Given the description of an element on the screen output the (x, y) to click on. 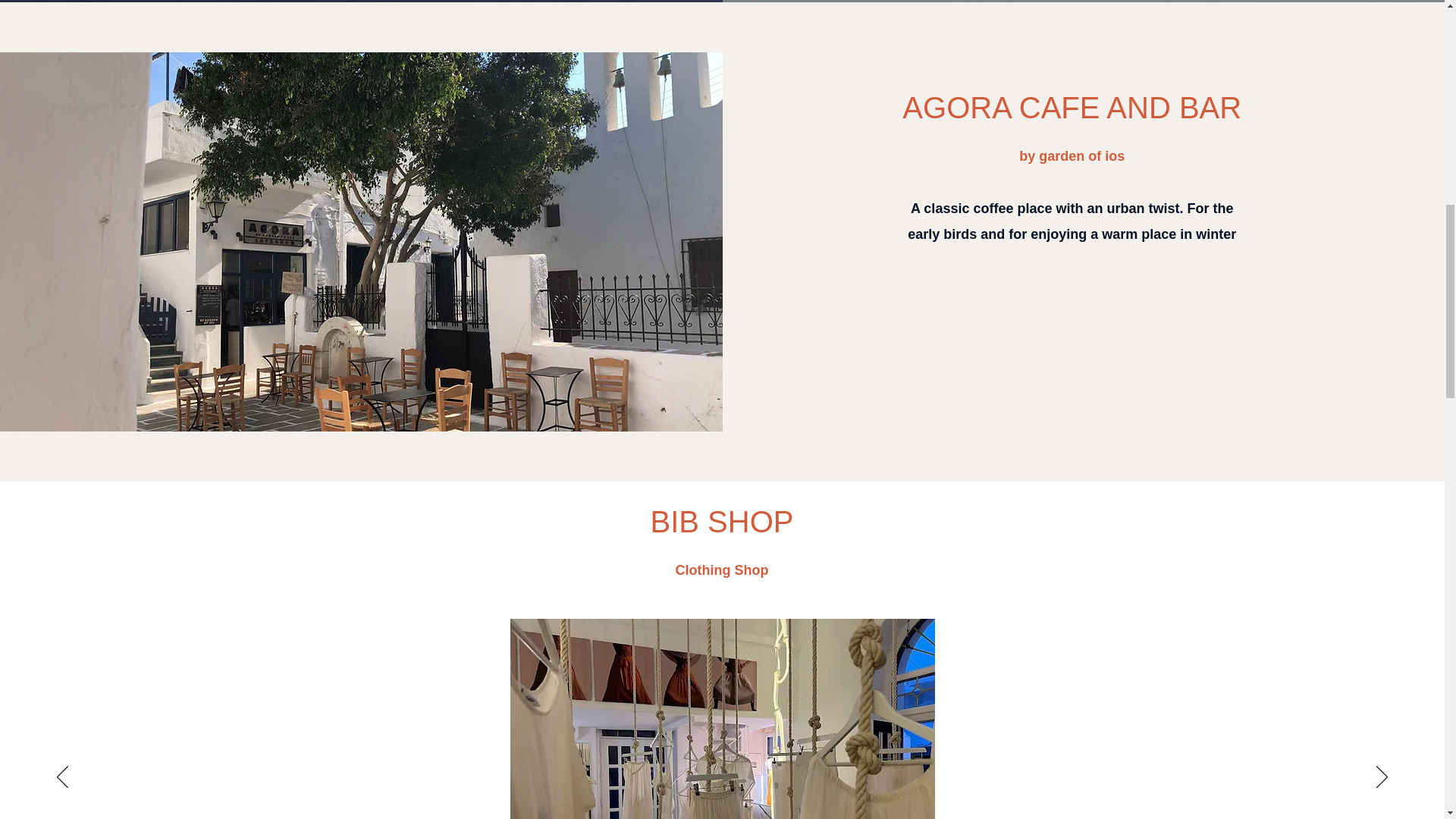
BIB SHOP (721, 521)
Clothing (704, 570)
Shop (750, 570)
by garden of ios (1071, 155)
AGORA (956, 107)
CAFE AND BAR (1125, 107)
